Given the description of an element on the screen output the (x, y) to click on. 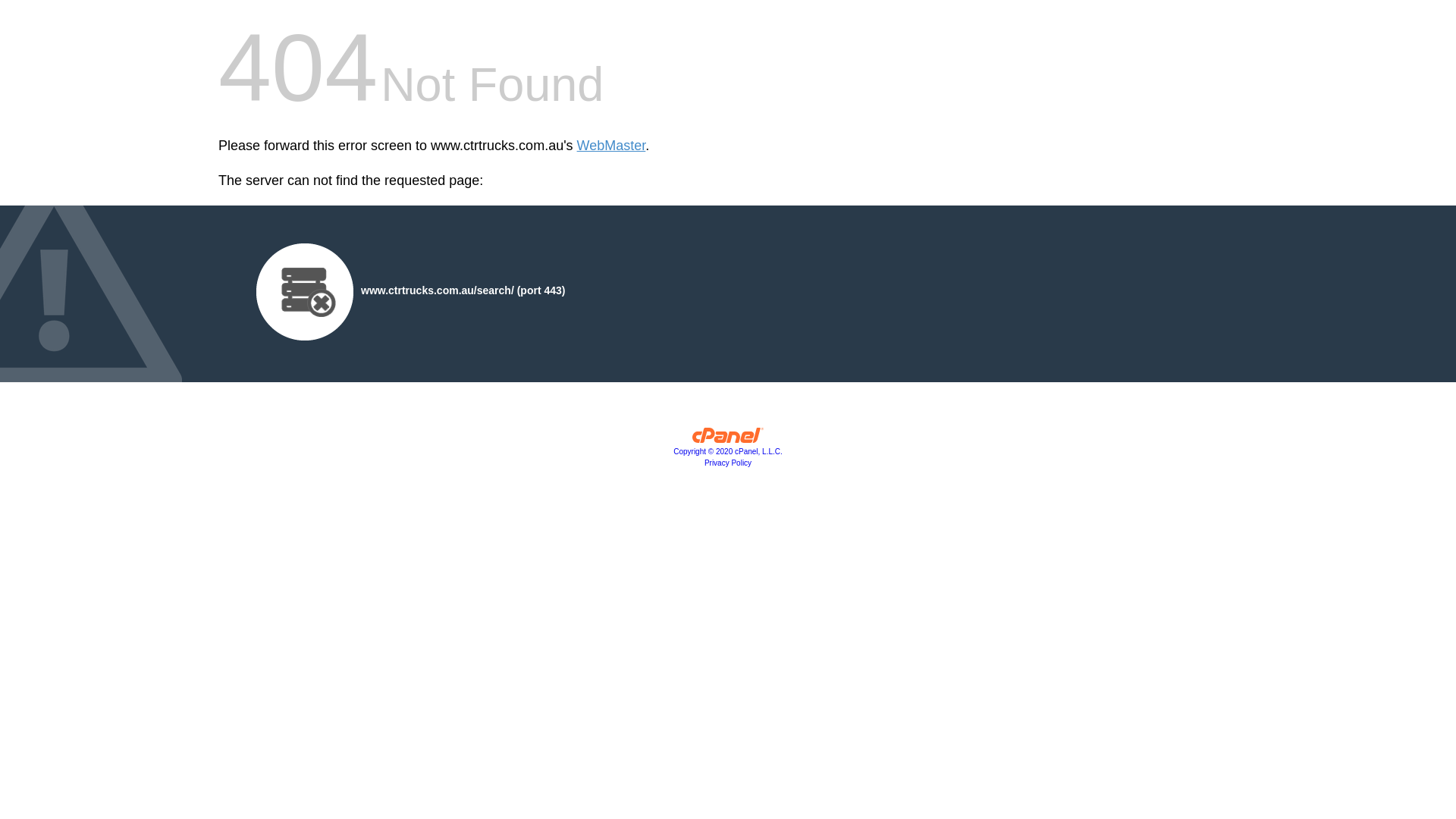
cPanel, Inc. Element type: hover (728, 439)
Privacy Policy Element type: text (727, 462)
WebMaster Element type: text (611, 145)
